Given the description of an element on the screen output the (x, y) to click on. 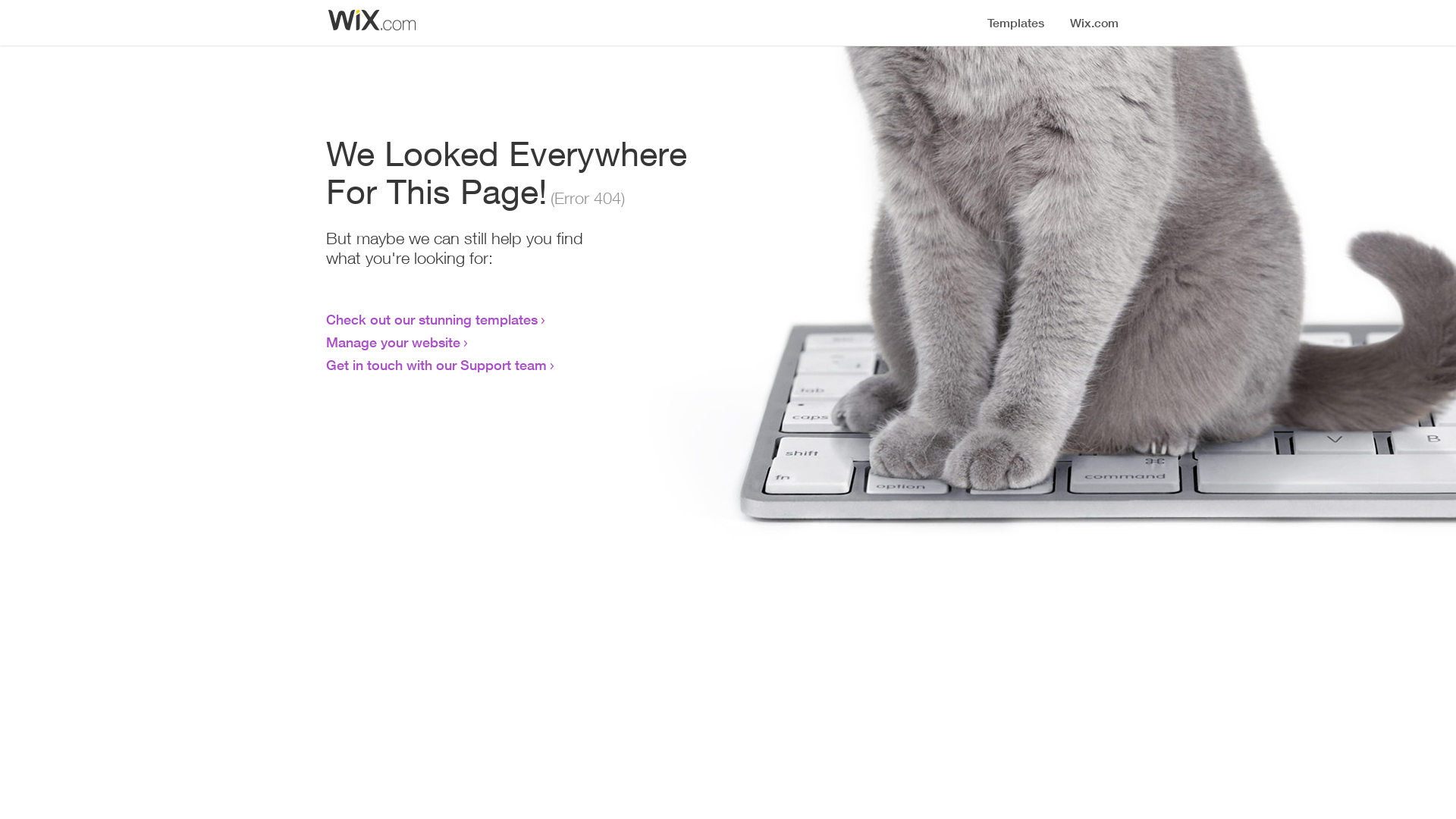
Get in touch with our Support team Element type: text (436, 364)
Check out our stunning templates Element type: text (431, 318)
Manage your website Element type: text (393, 341)
